Given the description of an element on the screen output the (x, y) to click on. 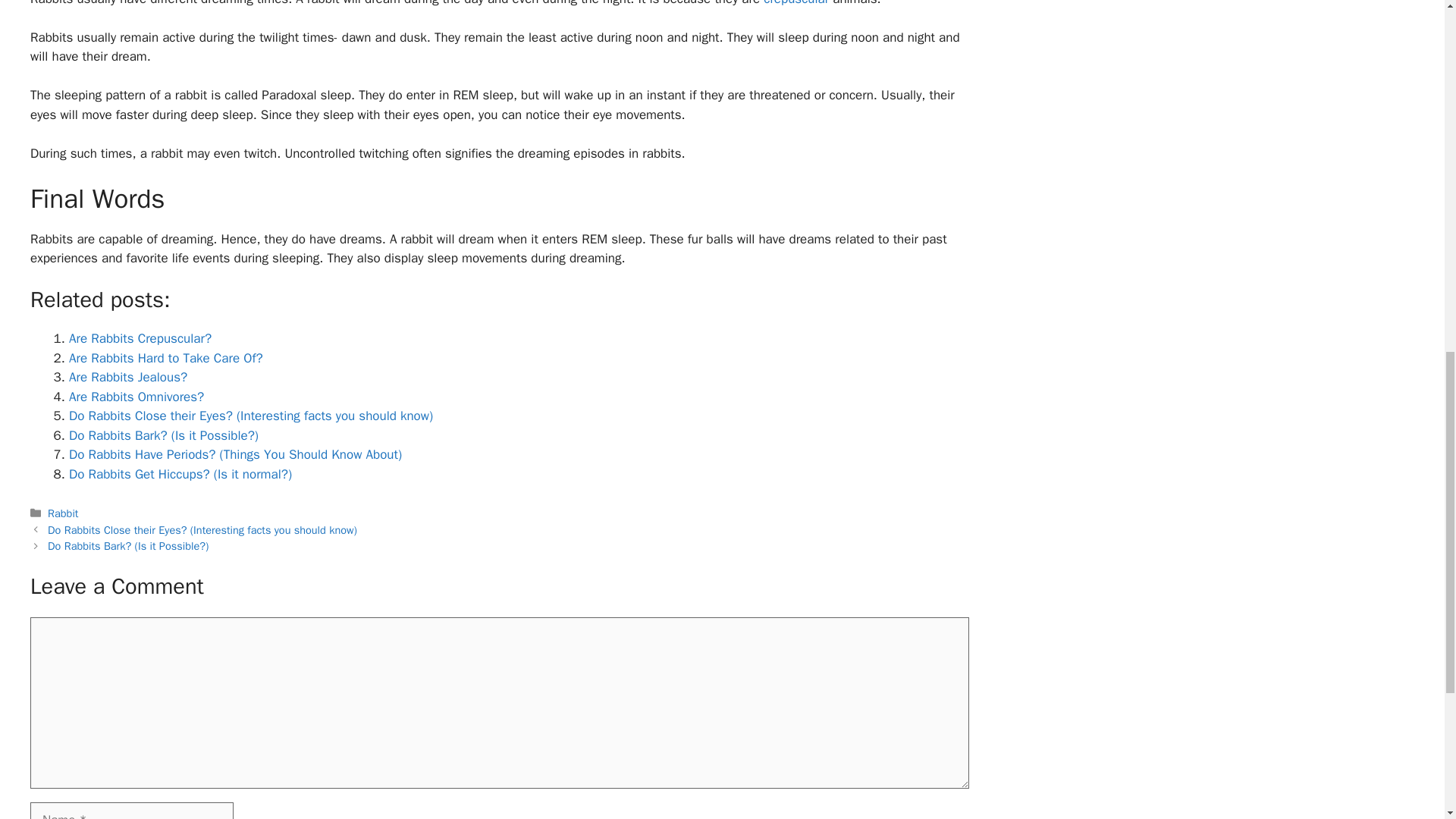
Are Rabbits Omnivores? (135, 396)
Are Rabbits Omnivores? (135, 396)
Are Rabbits Hard to Take Care Of? (165, 358)
Rabbit (63, 513)
Are Rabbits Crepuscular? (139, 338)
Are Rabbits Jealous? (127, 376)
Are Rabbits Hard to Take Care Of? (165, 358)
Are Rabbits Jealous? (127, 376)
Are Rabbits Crepuscular? (139, 338)
crepuscular (795, 3)
